Given the description of an element on the screen output the (x, y) to click on. 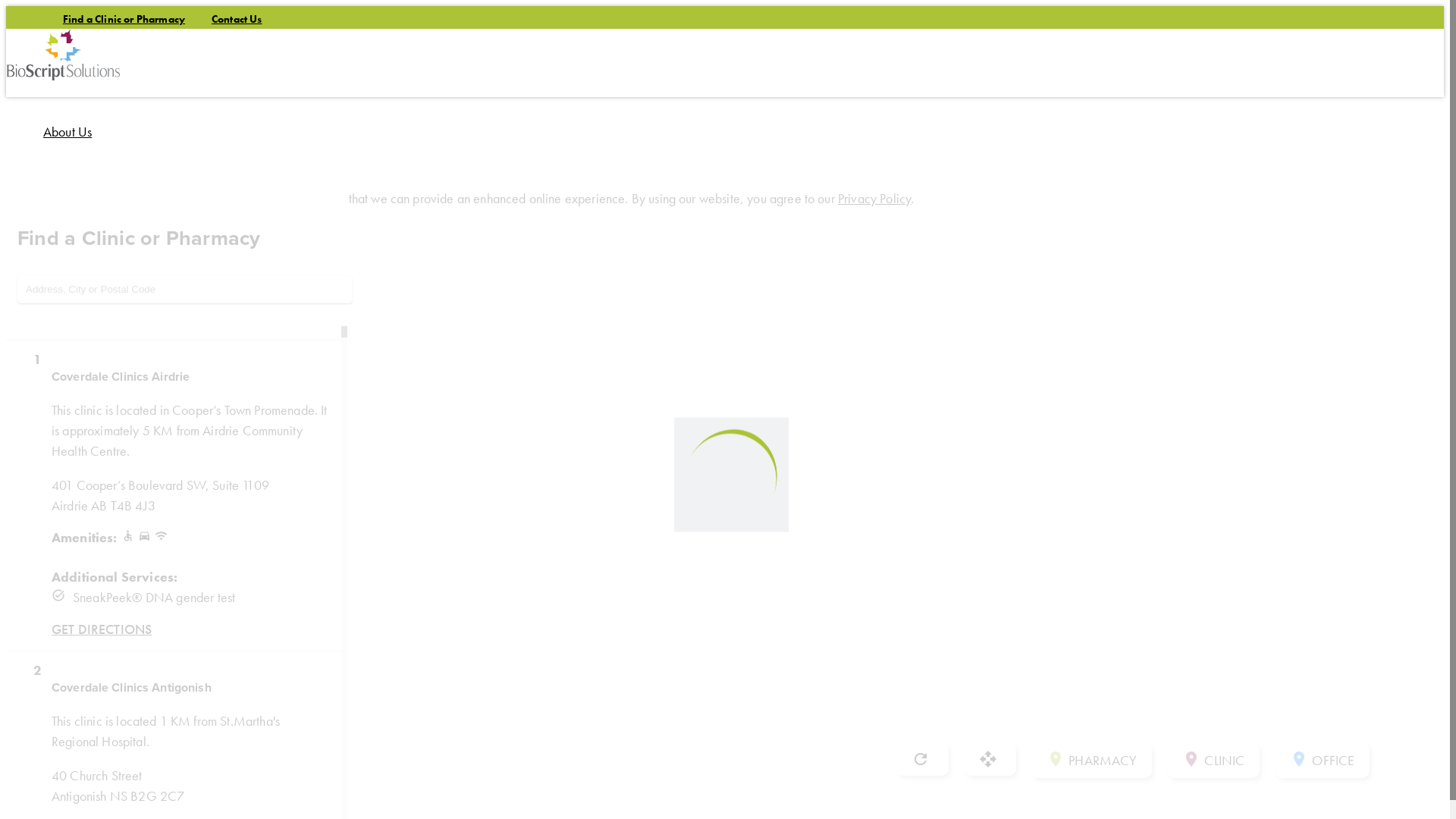
About Us Element type: text (67, 132)
Close Element type: text (24, 233)
refresh Element type: text (922, 758)
Contact Us Element type: text (236, 18)
search Element type: text (15, 393)
EN Element type: text (79, 392)
Find a Clinic or Pharmacy Element type: text (123, 18)
Our Services Element type: text (77, 199)
FR Element type: text (99, 392)
open_with Element type: text (989, 758)
Privacy Policy Element type: text (873, 198)
Who We Support Element type: text (88, 267)
GET DIRECTIONS Element type: text (101, 628)
Careers Element type: text (64, 334)
